Given the description of an element on the screen output the (x, y) to click on. 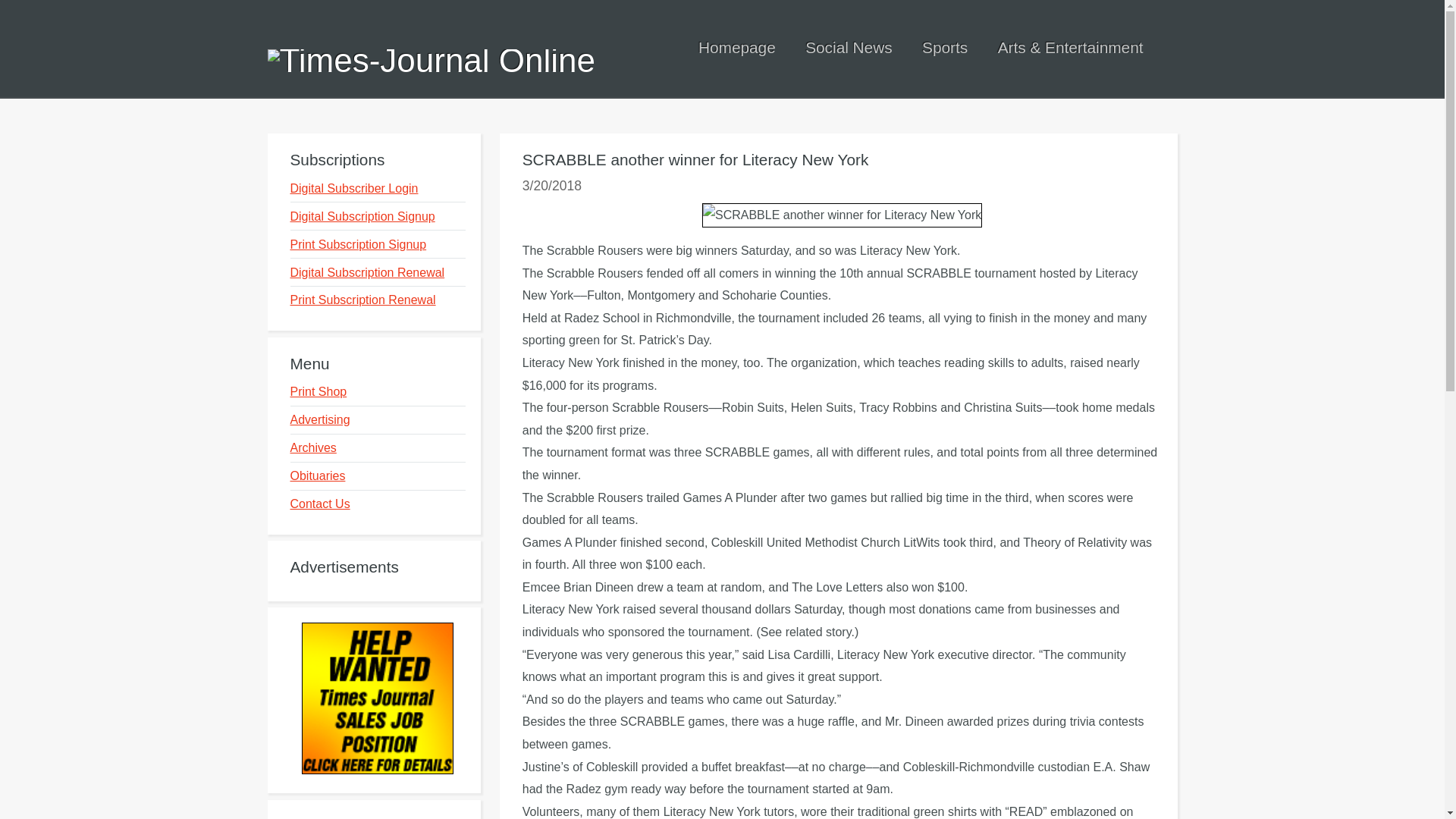
Archives (312, 447)
Digital Subscription Signup (361, 215)
Contact Us (319, 503)
Sports (944, 47)
Times-Journal Online (430, 60)
Print Subscription Signup (357, 244)
SCRABBLE another winner for Literacy New York (841, 215)
Digital Subscriber Login (353, 187)
Social News (848, 47)
Digital Subscription Renewal (366, 271)
Obituaries (317, 475)
Print Subscription Renewal (362, 299)
Advertising (319, 419)
Homepage (737, 47)
Print Shop (317, 391)
